Given the description of an element on the screen output the (x, y) to click on. 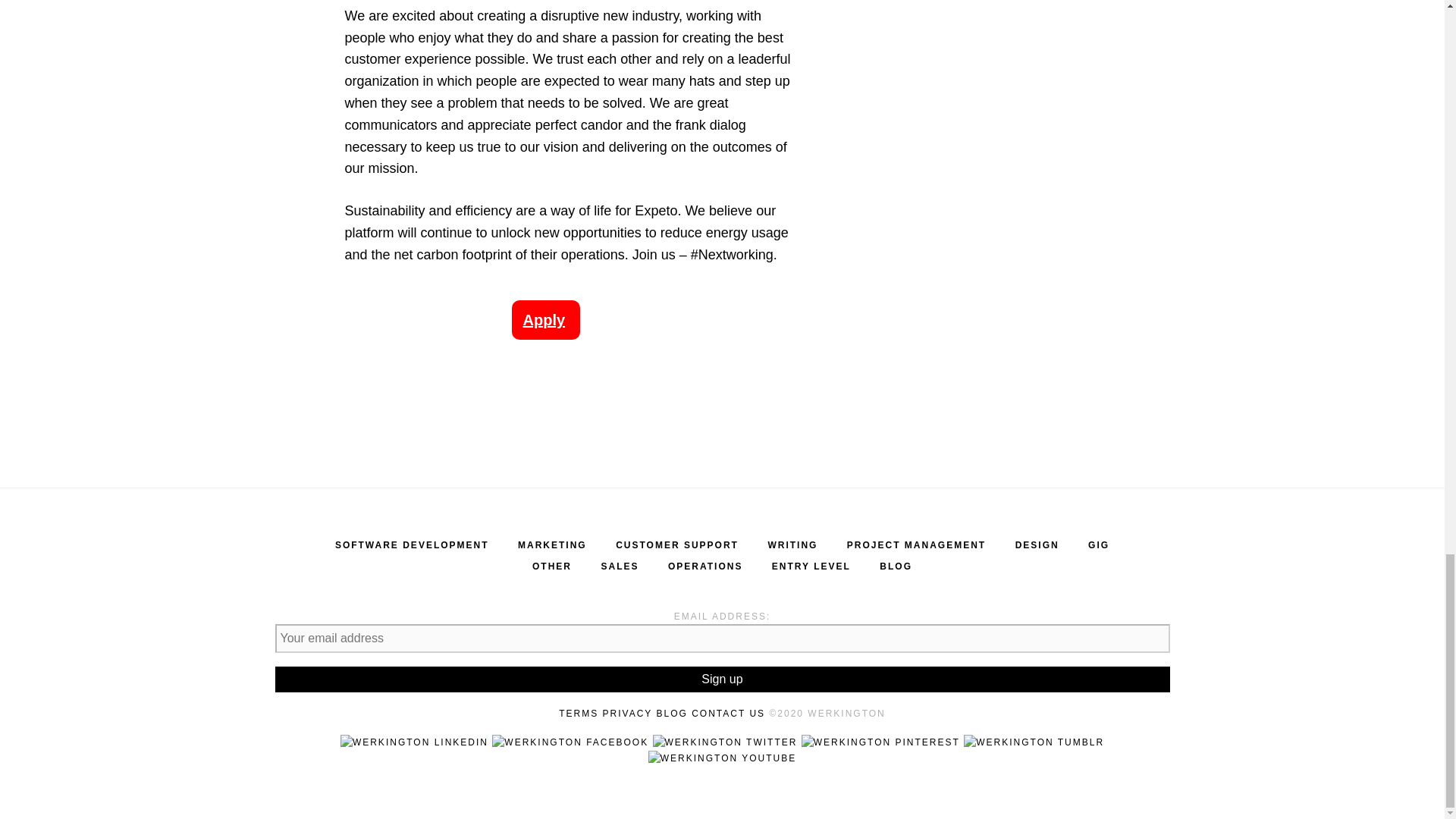
DESIGN (1036, 544)
SOFTWARE DEVELOPMENT (411, 544)
Sign up (722, 679)
BLOG (895, 566)
CUSTOMER SUPPORT (676, 544)
OPERATIONS (705, 566)
GIG (1098, 544)
MARKETING (552, 544)
Werkington Tumblr (1033, 742)
PROJECT MANAGEMENT (916, 544)
